Given the description of an element on the screen output the (x, y) to click on. 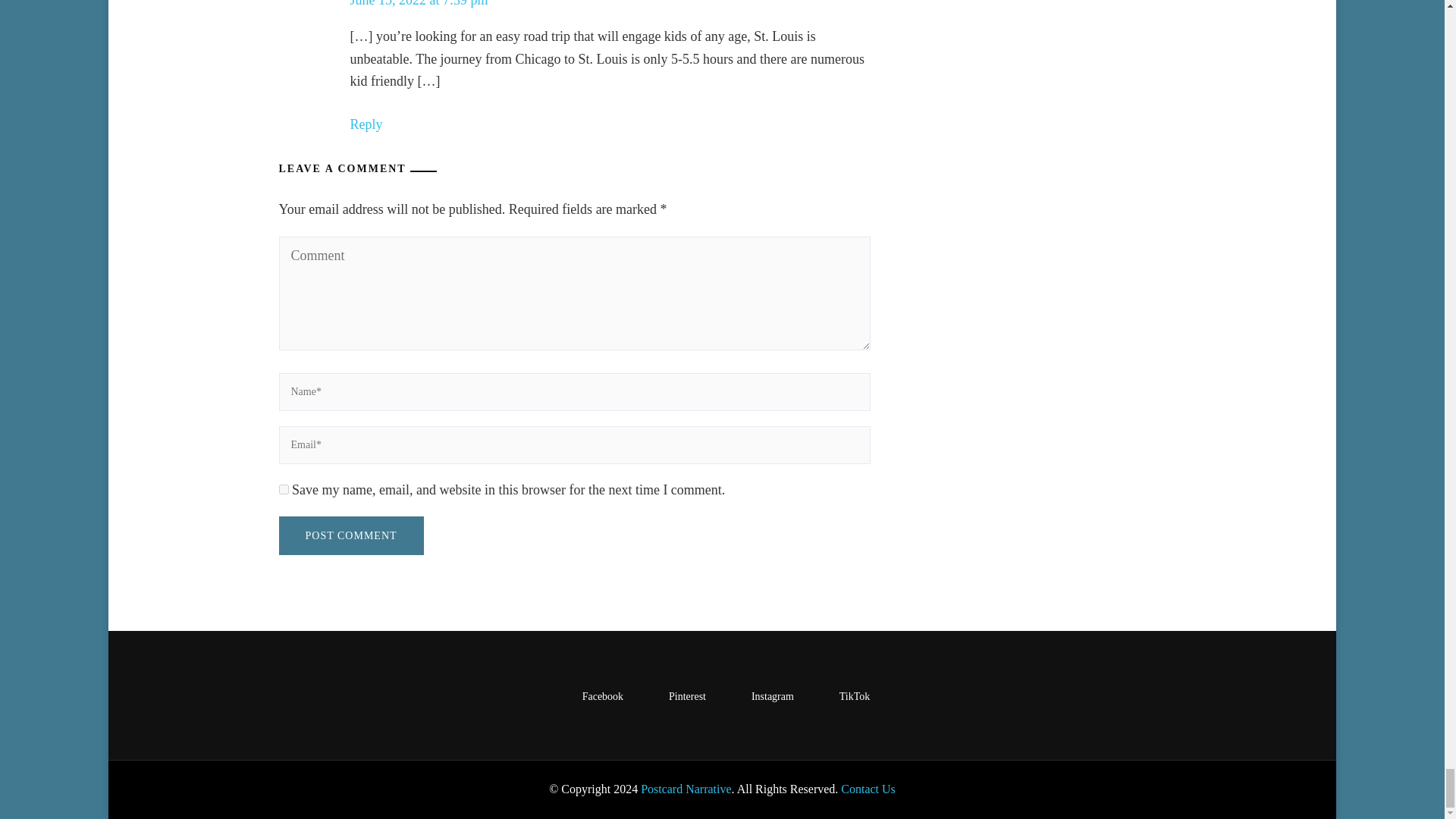
Post Comment (351, 535)
yes (283, 489)
